Given the description of an element on the screen output the (x, y) to click on. 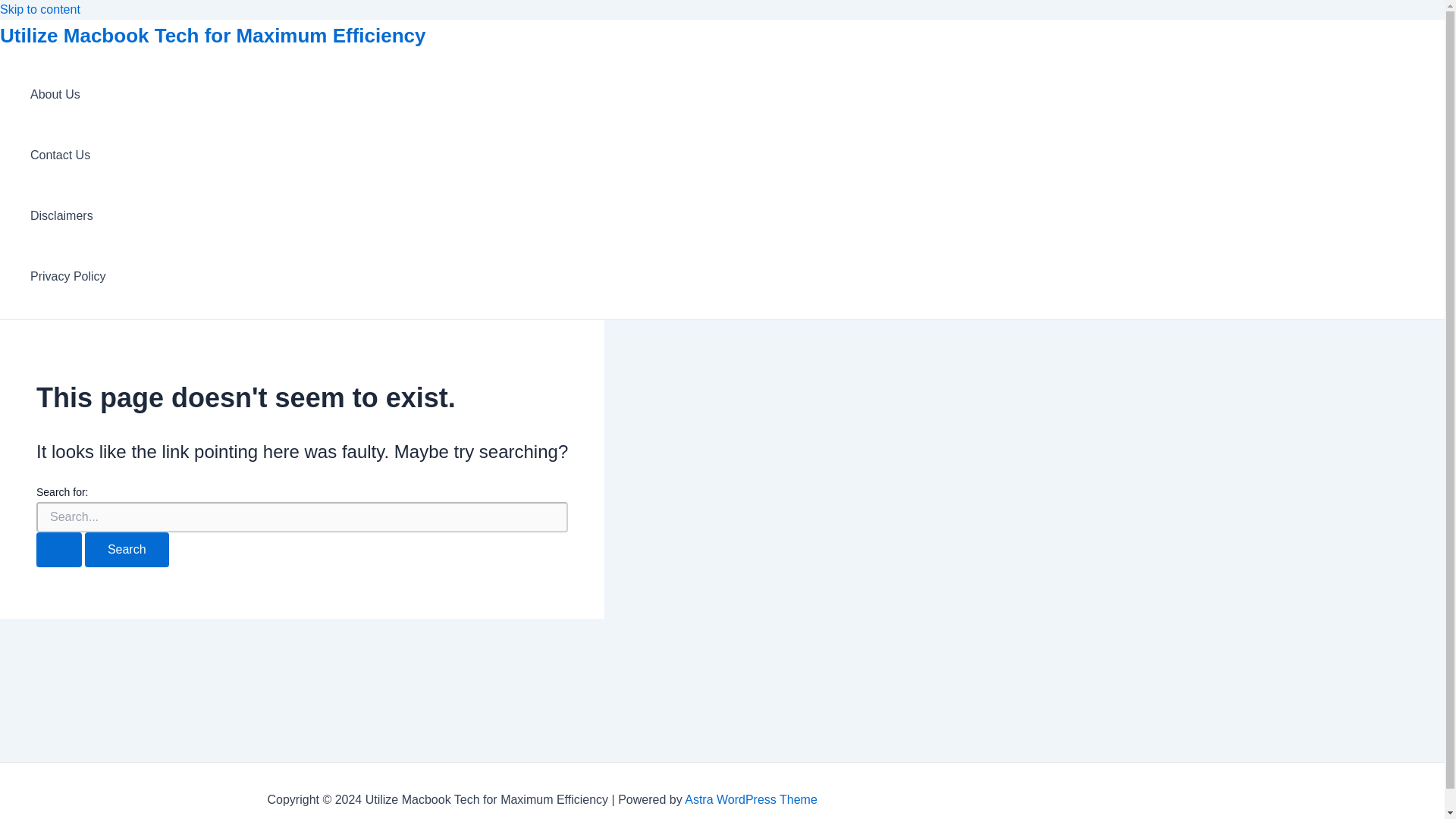
Disclaimers (68, 215)
Astra WordPress Theme (750, 799)
Search (126, 549)
Search (126, 549)
Skip to content (40, 9)
Skip to content (40, 9)
Utilize Macbook Tech for Maximum Efficiency (213, 35)
Search (126, 549)
About Us (68, 94)
Contact Us (68, 155)
Privacy Policy (68, 276)
